Given the description of an element on the screen output the (x, y) to click on. 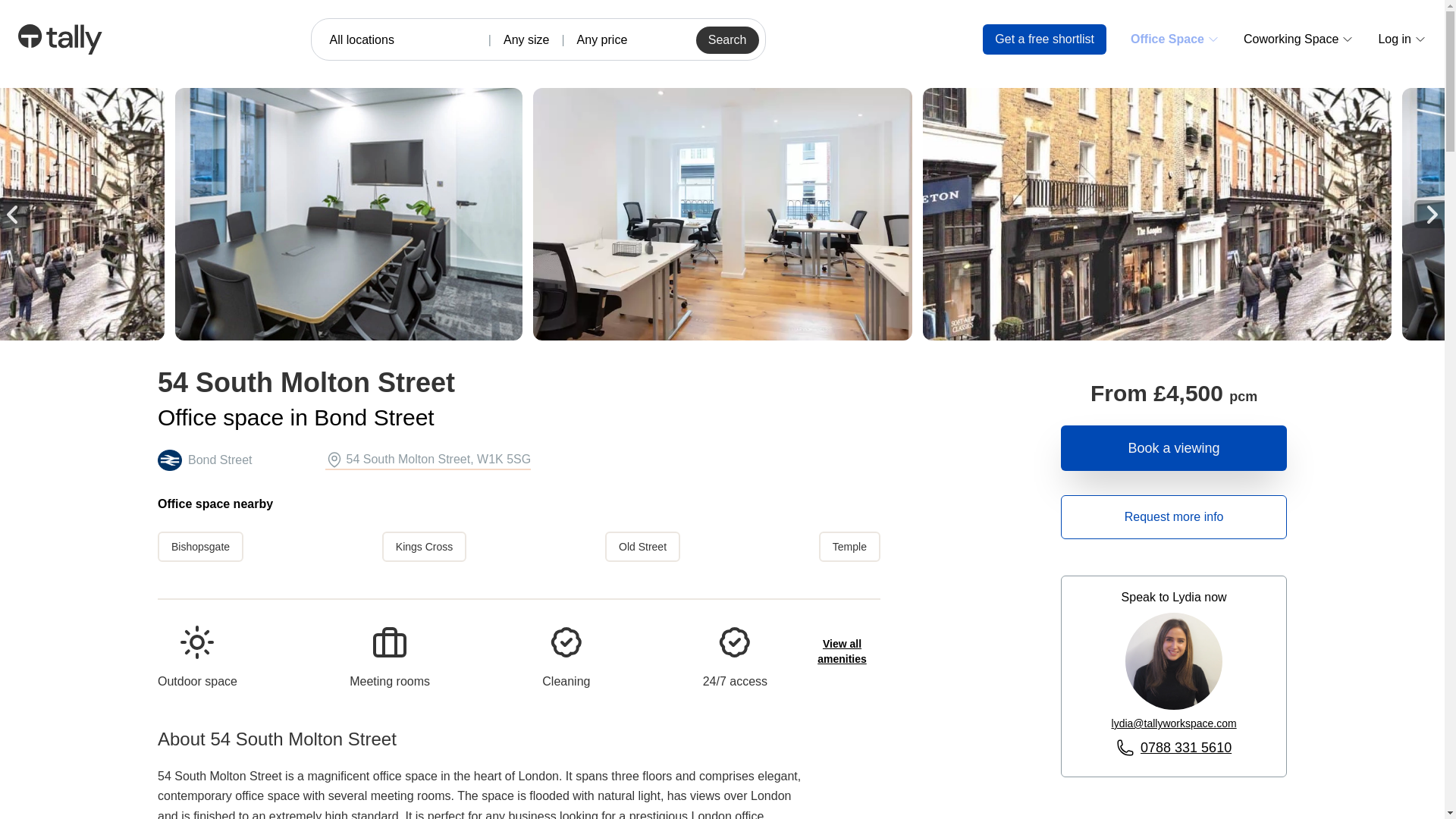
Search (726, 40)
Tally Workspace (59, 39)
